Given the description of an element on the screen output the (x, y) to click on. 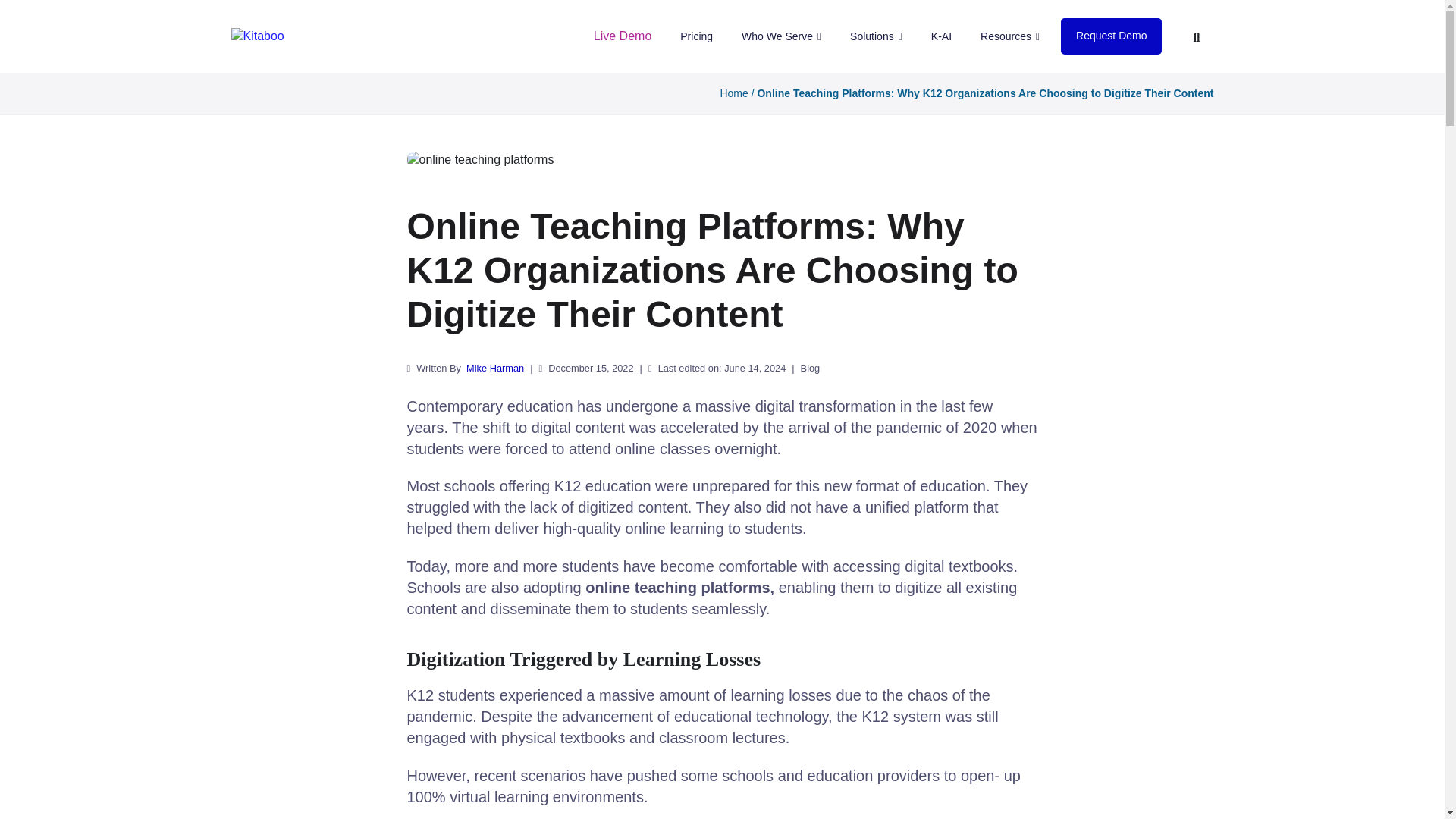
Blog (810, 368)
Mike Harman (494, 368)
Kitaboo (256, 36)
Live Demo (622, 36)
Solutions (876, 36)
Resources (1009, 36)
Who We Serve (780, 36)
Request Demo (1111, 36)
Home (733, 92)
